Given the description of an element on the screen output the (x, y) to click on. 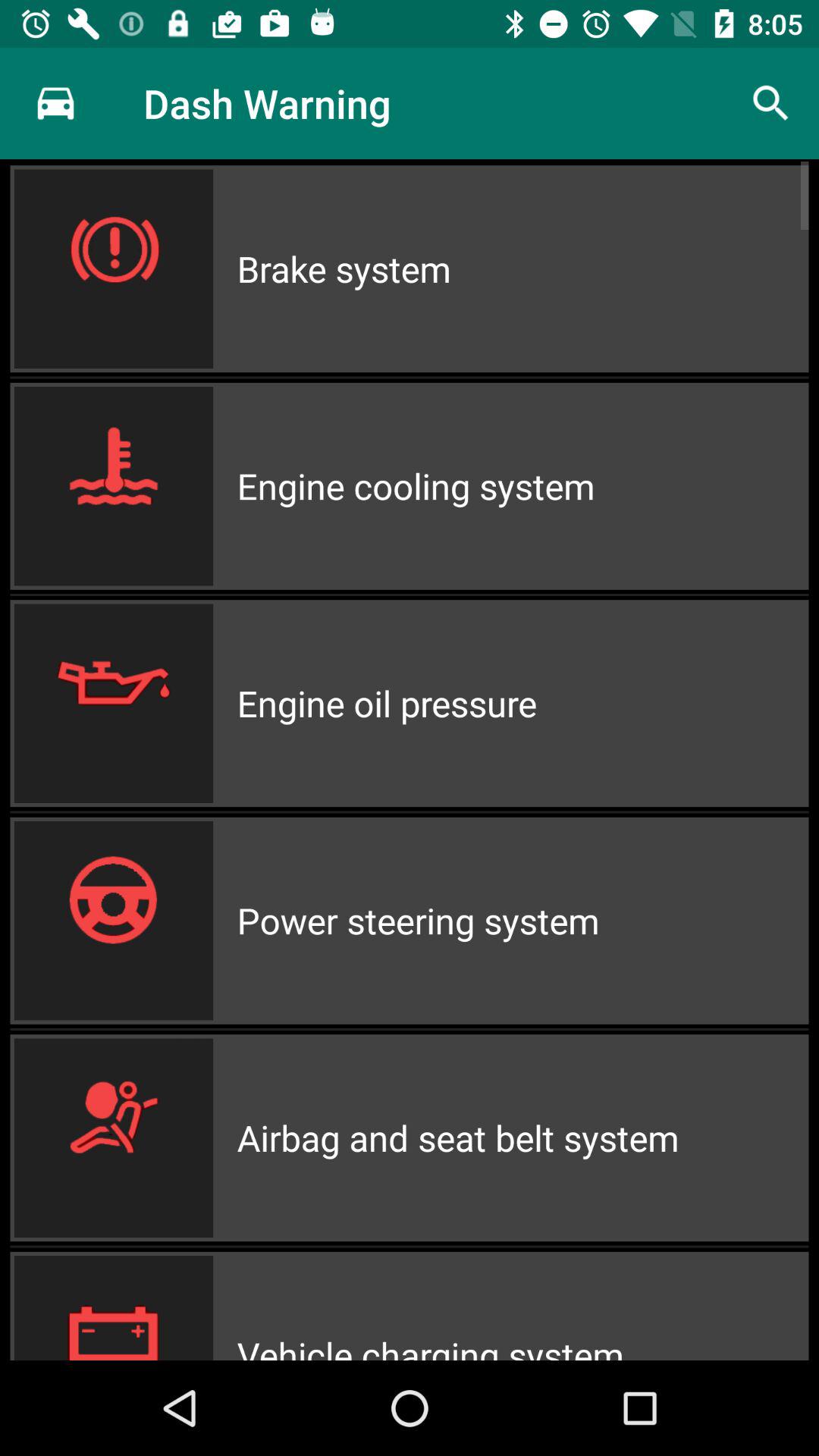
tap icon above power steering system item (522, 703)
